Given the description of an element on the screen output the (x, y) to click on. 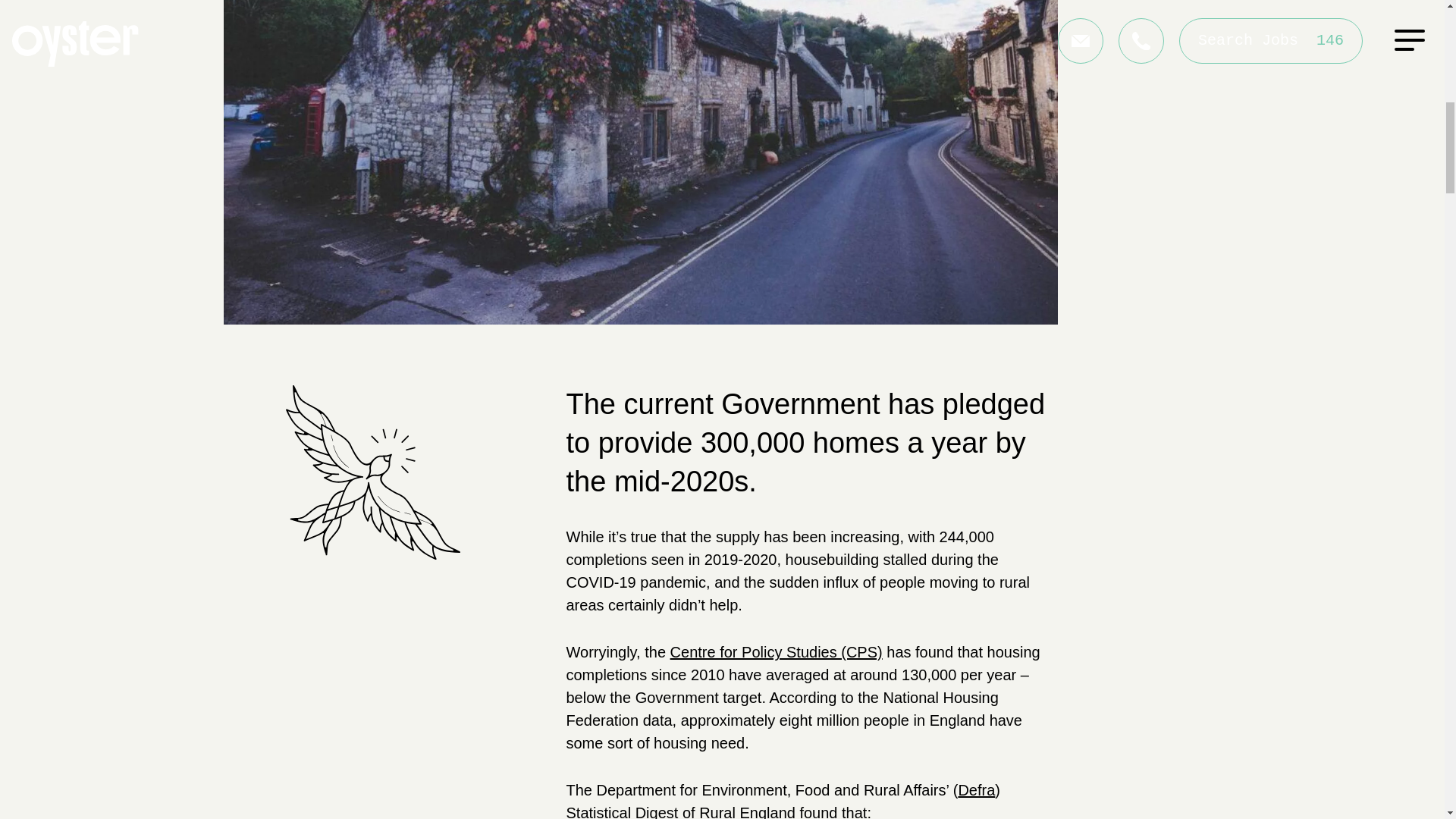
Defra (976, 790)
Statistical Digest of Rural England (680, 811)
